Given the description of an element on the screen output the (x, y) to click on. 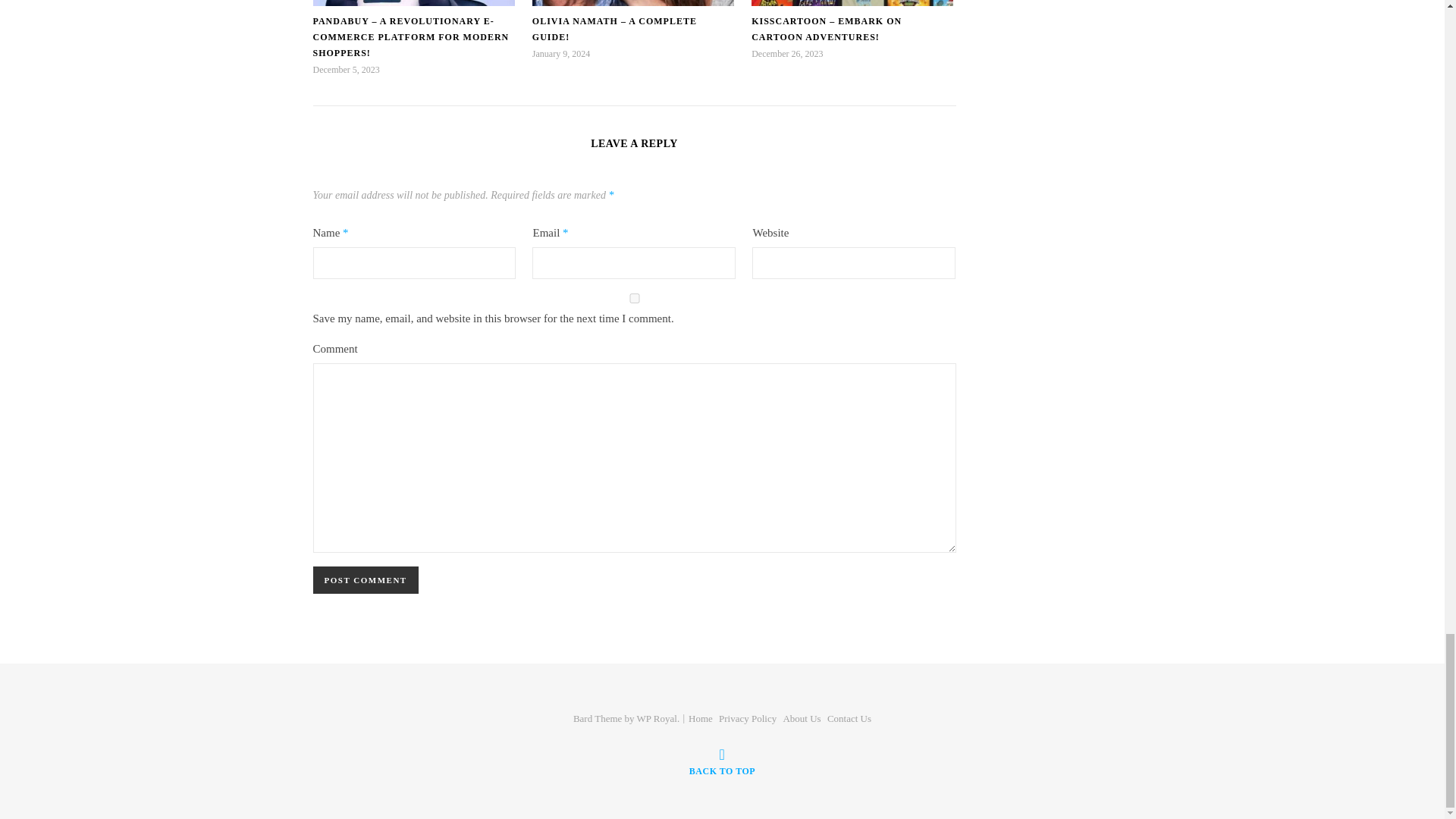
yes (634, 298)
Post Comment (365, 579)
BACK TO TOP (722, 761)
Post Comment (365, 579)
